Given the description of an element on the screen output the (x, y) to click on. 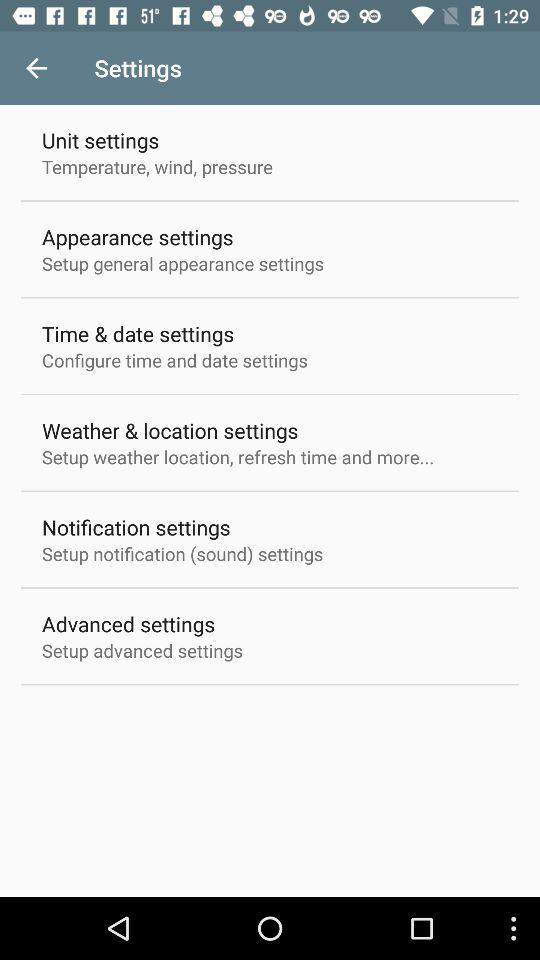
turn on setup general appearance icon (183, 263)
